Given the description of an element on the screen output the (x, y) to click on. 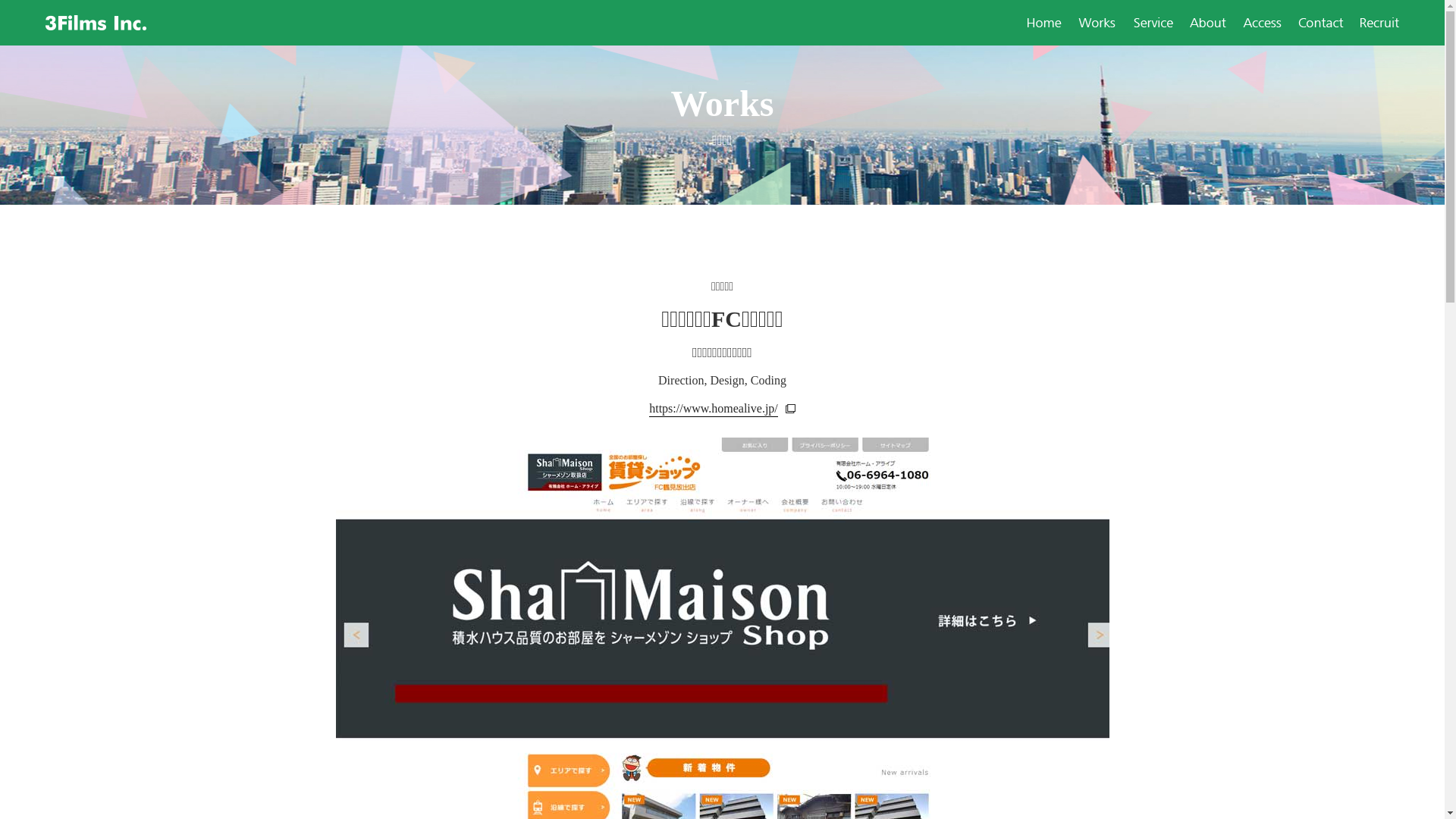
https://www.homealive.jp/ Element type: text (722, 407)
